Given the description of an element on the screen output the (x, y) to click on. 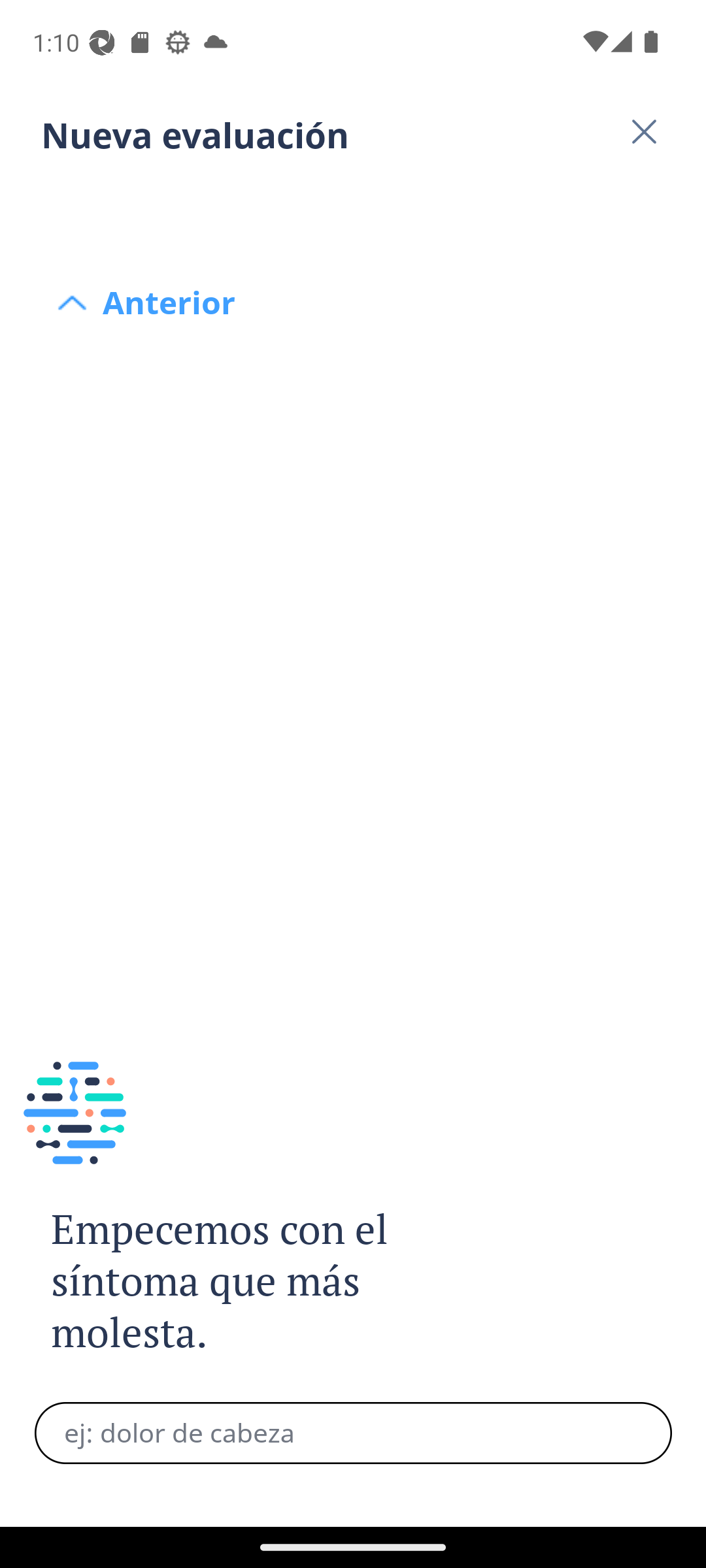
undo Anterior (353, 203)
Empecemos con el síntoma que más molesta. (240, 1281)
ej: dolor de cabeza (353, 1432)
